Given the description of an element on the screen output the (x, y) to click on. 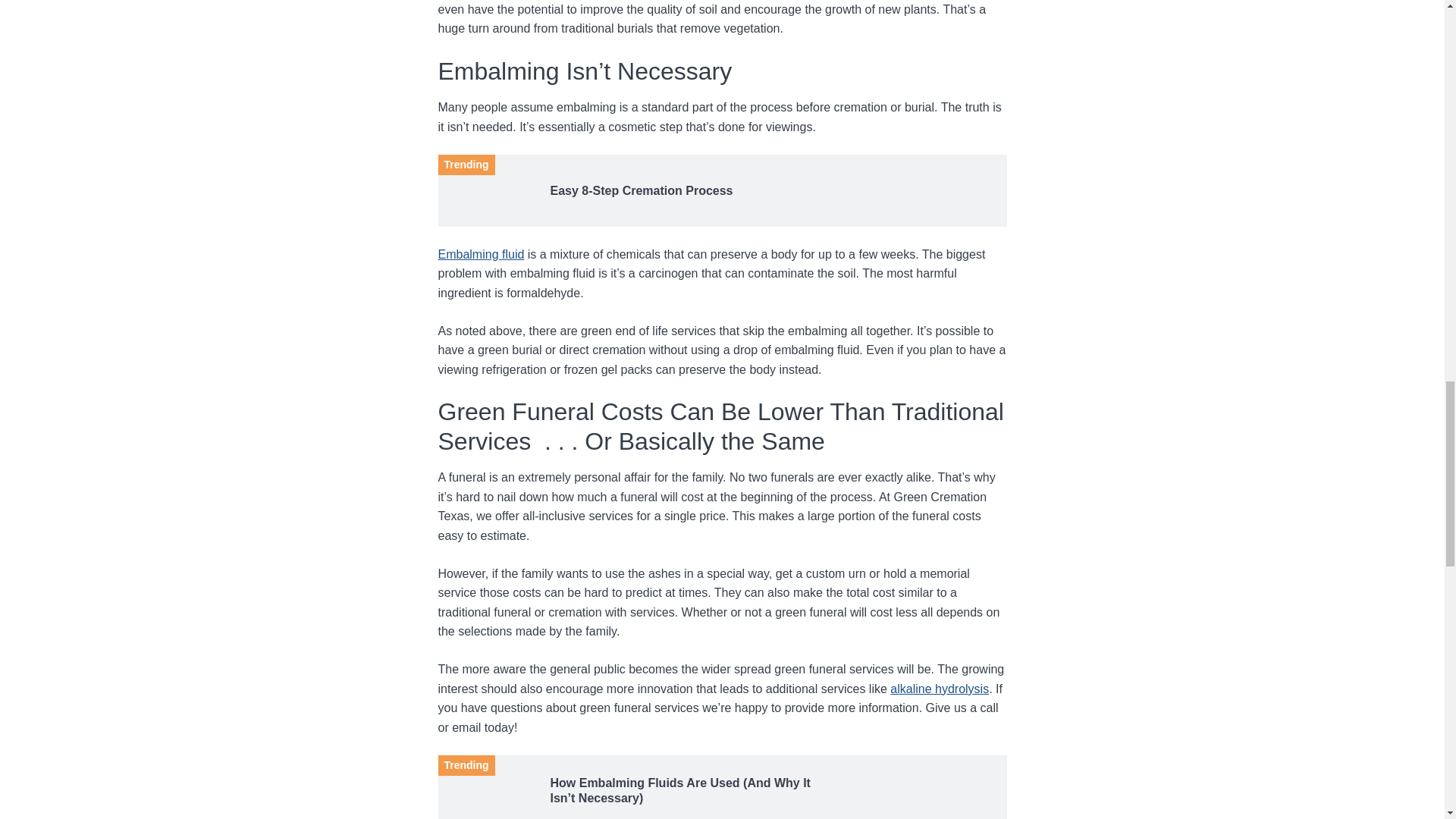
Easy 8-Step Cremation Process (694, 191)
What You Need to Know About Having a Green Funeral (486, 787)
What You Need to Know About Having a Green Funeral (486, 187)
alkaline hydrolysis (938, 688)
Embalming fluid (481, 254)
